Given the description of an element on the screen output the (x, y) to click on. 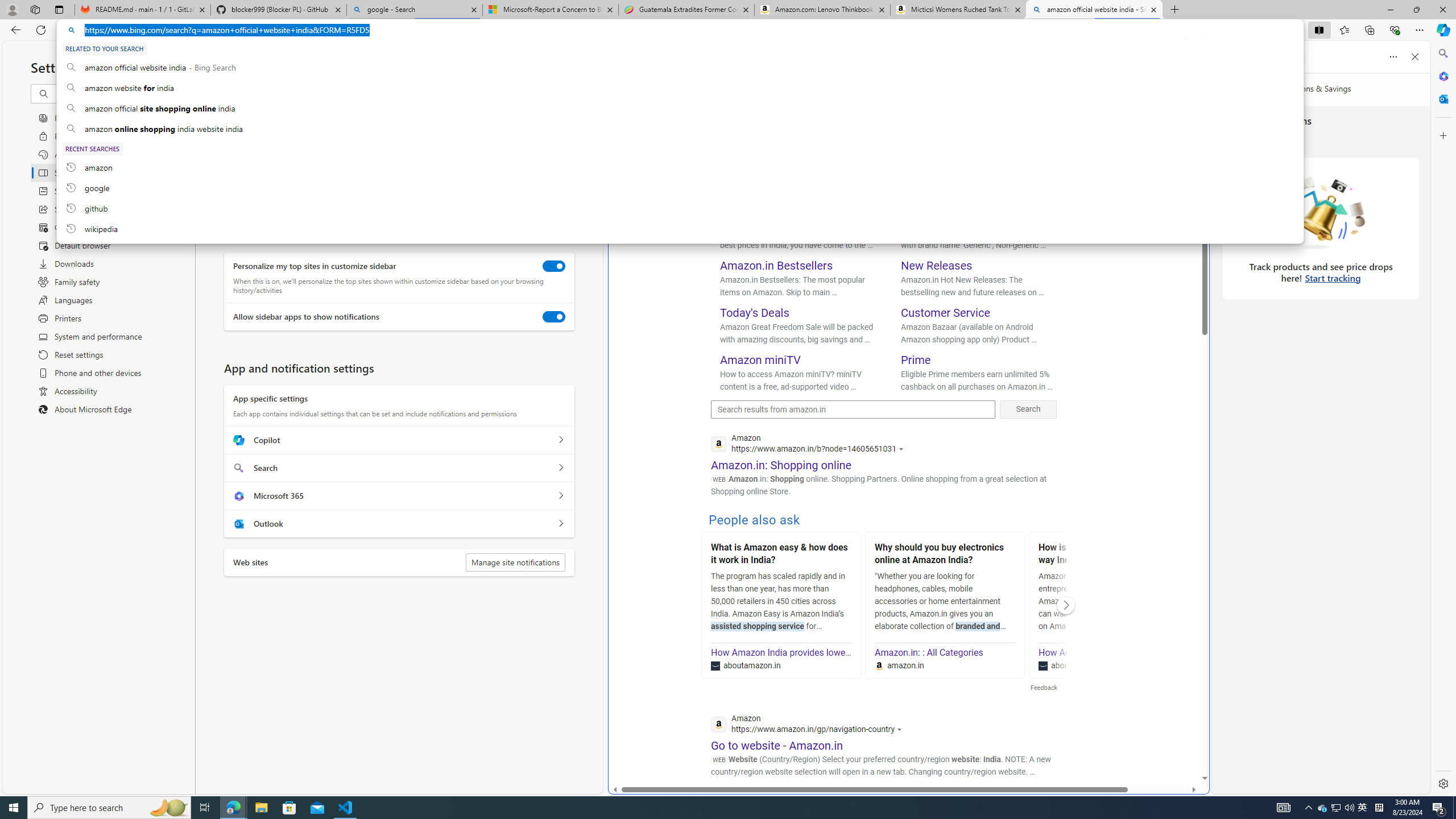
MORE (1000, 98)
Search results from amazon.in (852, 409)
MAPS (915, 98)
Click to scroll right (1065, 605)
New Releases (936, 265)
Amazon miniTV (760, 359)
How is Amazon easy changing the way India buys? (1108, 555)
